Given the description of an element on the screen output the (x, y) to click on. 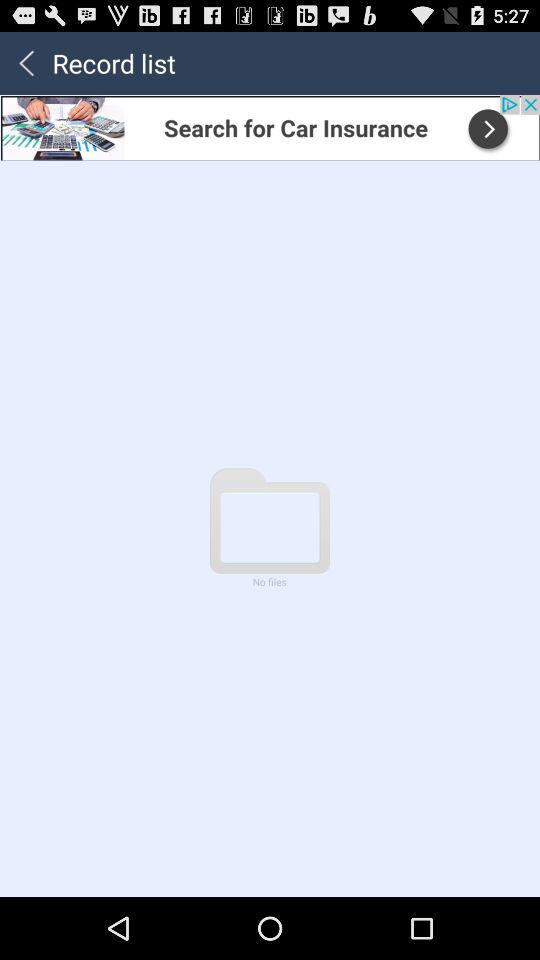
back button (26, 62)
